Given the description of an element on the screen output the (x, y) to click on. 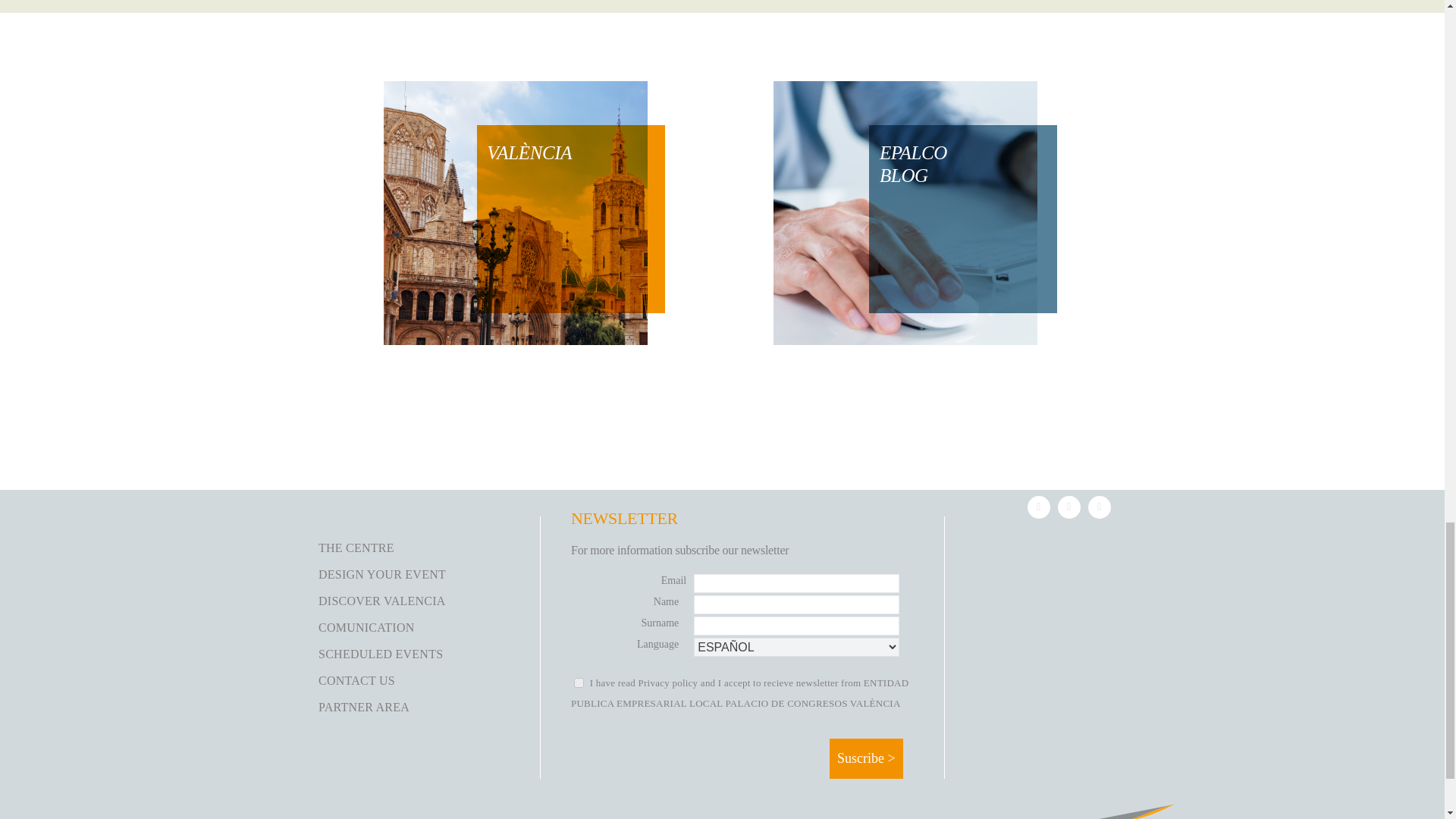
LinkedIn (1038, 507)
Logo PalCong (1128, 811)
on (578, 682)
YouTube (1098, 507)
X (1069, 507)
